Given the description of an element on the screen output the (x, y) to click on. 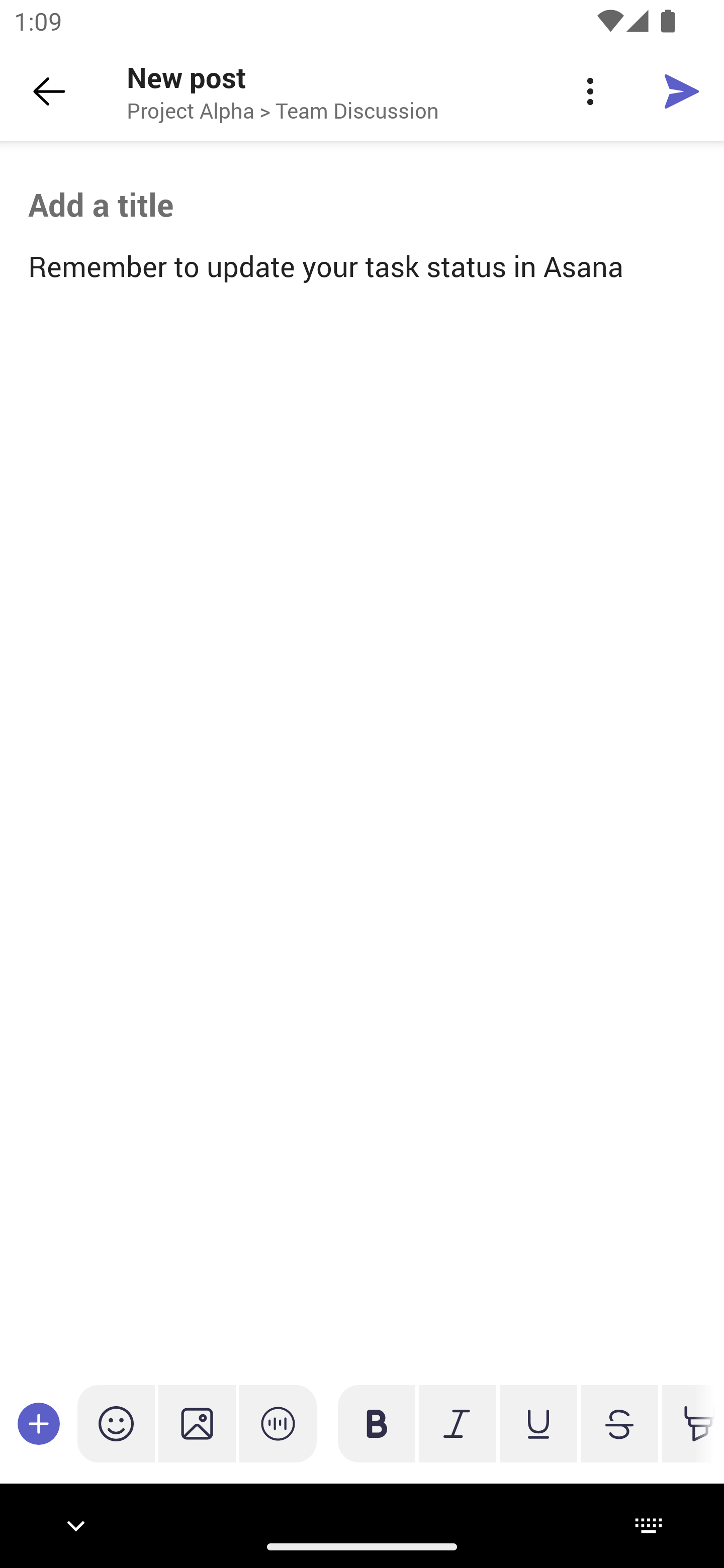
Back (49, 91)
Email options (589, 91)
Send message (681, 90)
Add a title (362, 204)
Compose options, collapsed (38, 1423)
GIFs and emojis picker (115, 1423)
Media (197, 1423)
Record audio message (278, 1423)
Bold (376, 1423)
Italic (456, 1423)
Underline (538, 1423)
Strikethrough (619, 1423)
Select text highlight color (688, 1423)
